Given the description of an element on the screen output the (x, y) to click on. 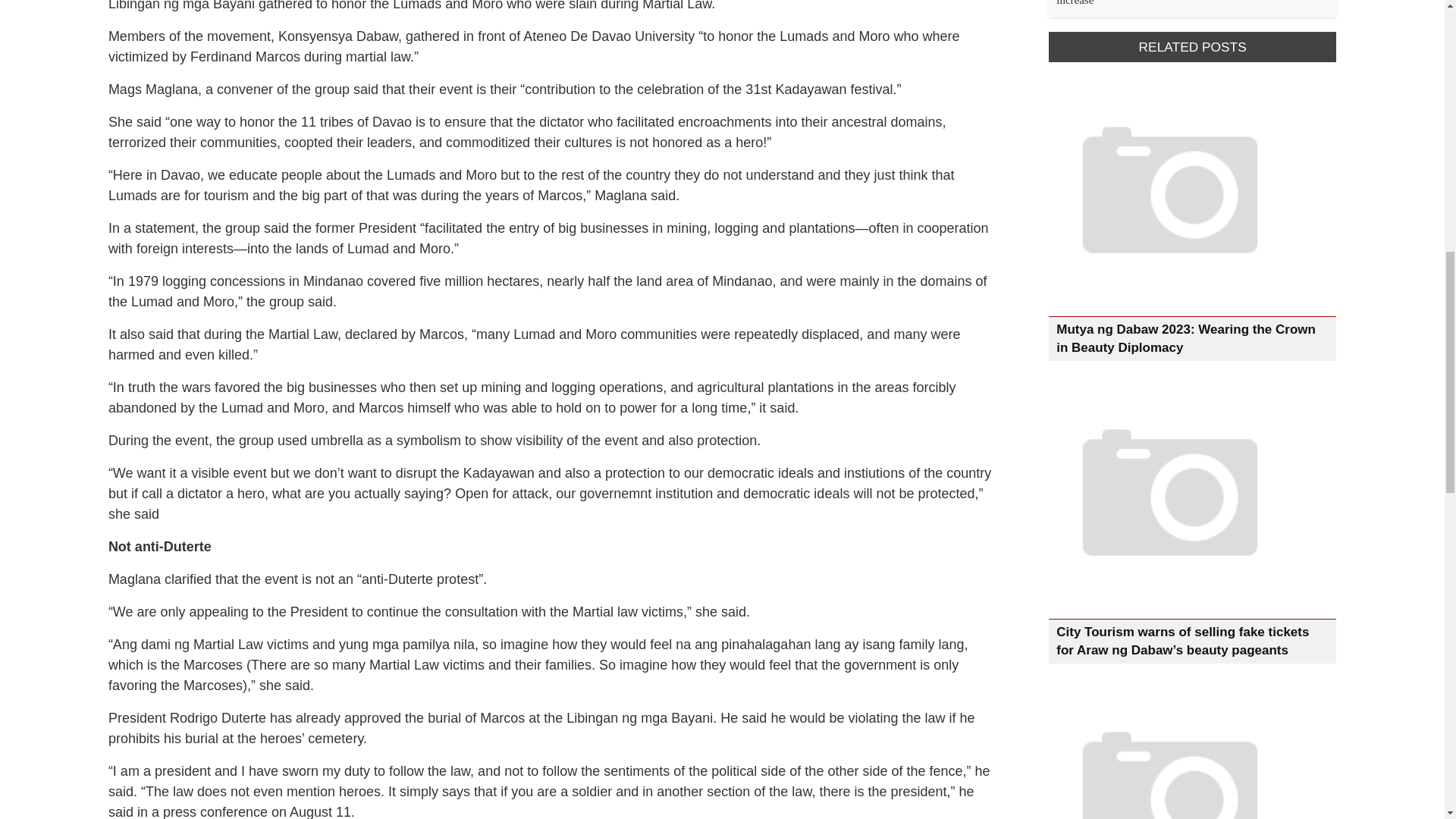
Mutya ng Dabaw 2023: Wearing the Crown in Beauty Diplomacy (1186, 338)
